Given the description of an element on the screen output the (x, y) to click on. 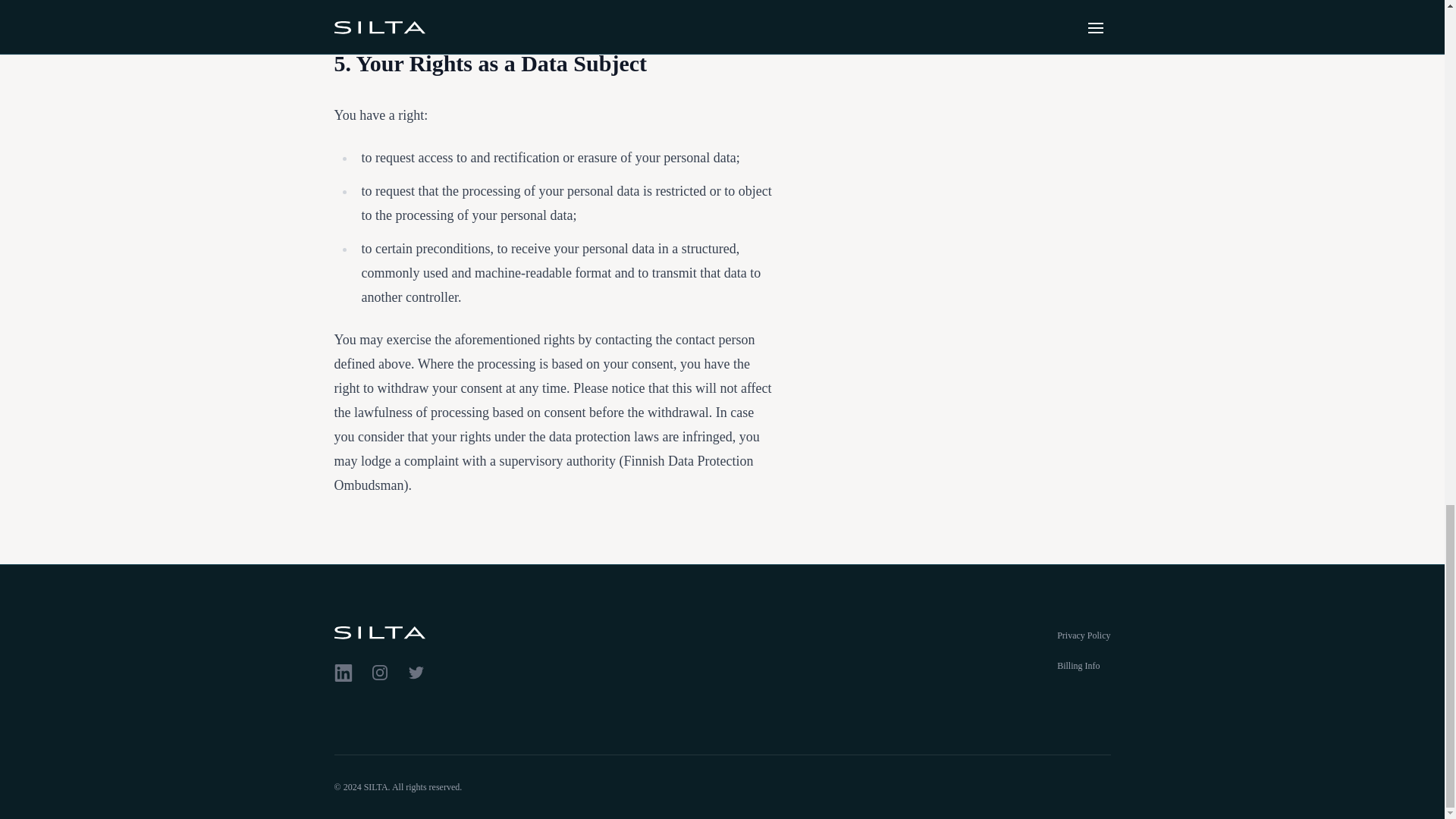
Silta (454, 632)
Privacy Policy (1083, 634)
Instagram (378, 672)
LinkedIn (342, 672)
Twitter (415, 672)
Billing Info (1078, 665)
